Given the description of an element on the screen output the (x, y) to click on. 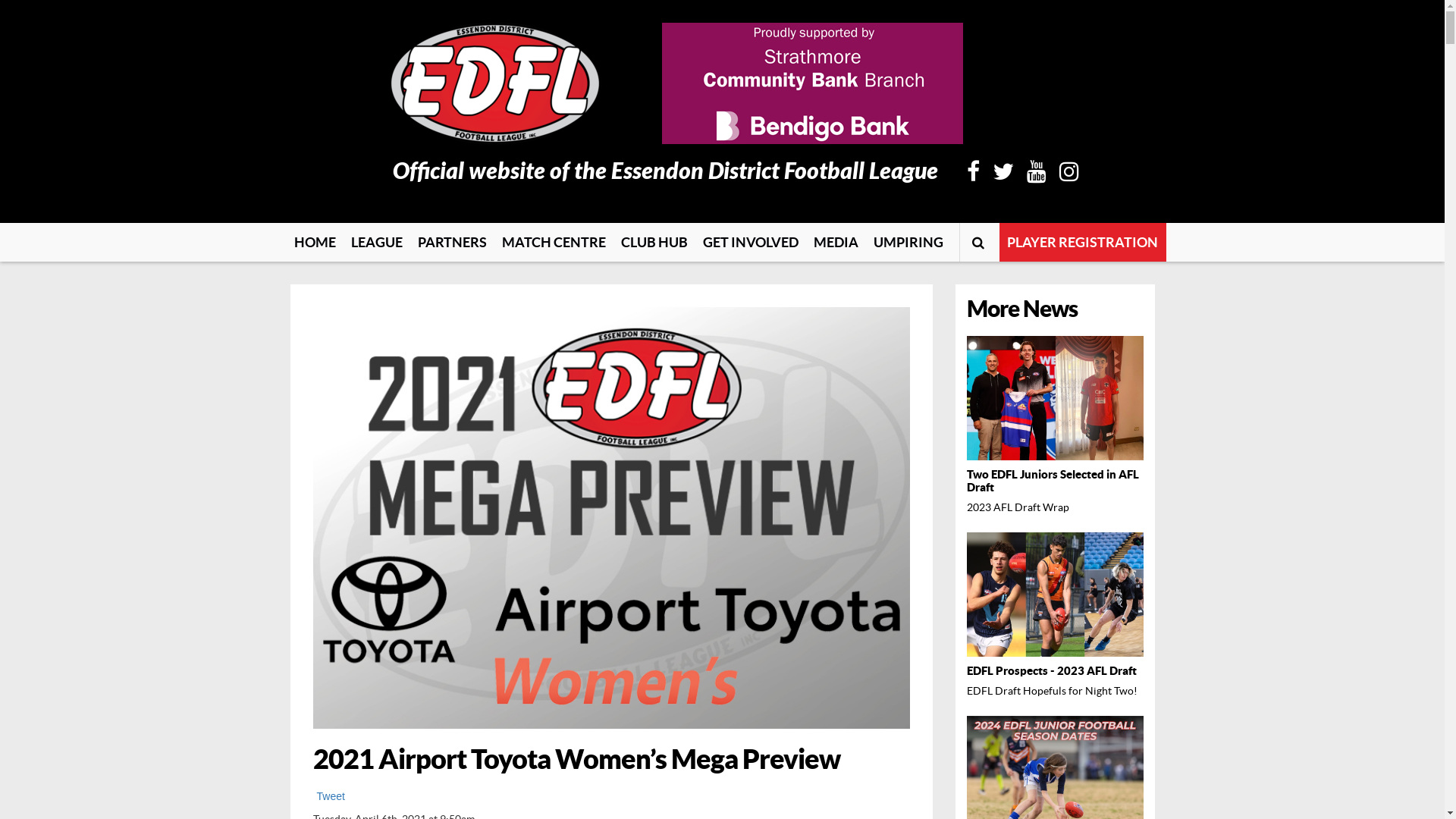
PLAYER REGISTRATION Element type: text (1082, 241)
LEAGUE Element type: text (375, 242)
HOME Element type: text (314, 242)
PARTNERS Element type: text (451, 242)
EDFL Prospects - 2023 AFL Draft Element type: text (1054, 670)
Tweet Element type: text (330, 795)
GET INVOLVED Element type: text (749, 242)
MEDIA Element type: text (835, 242)
Two EDFL Juniors Selected in AFL Draft Element type: text (1054, 480)
UMPIRING Element type: text (908, 242)
MATCH CENTRE Element type: text (553, 242)
CLUB HUB Element type: text (653, 242)
